Given the description of an element on the screen output the (x, y) to click on. 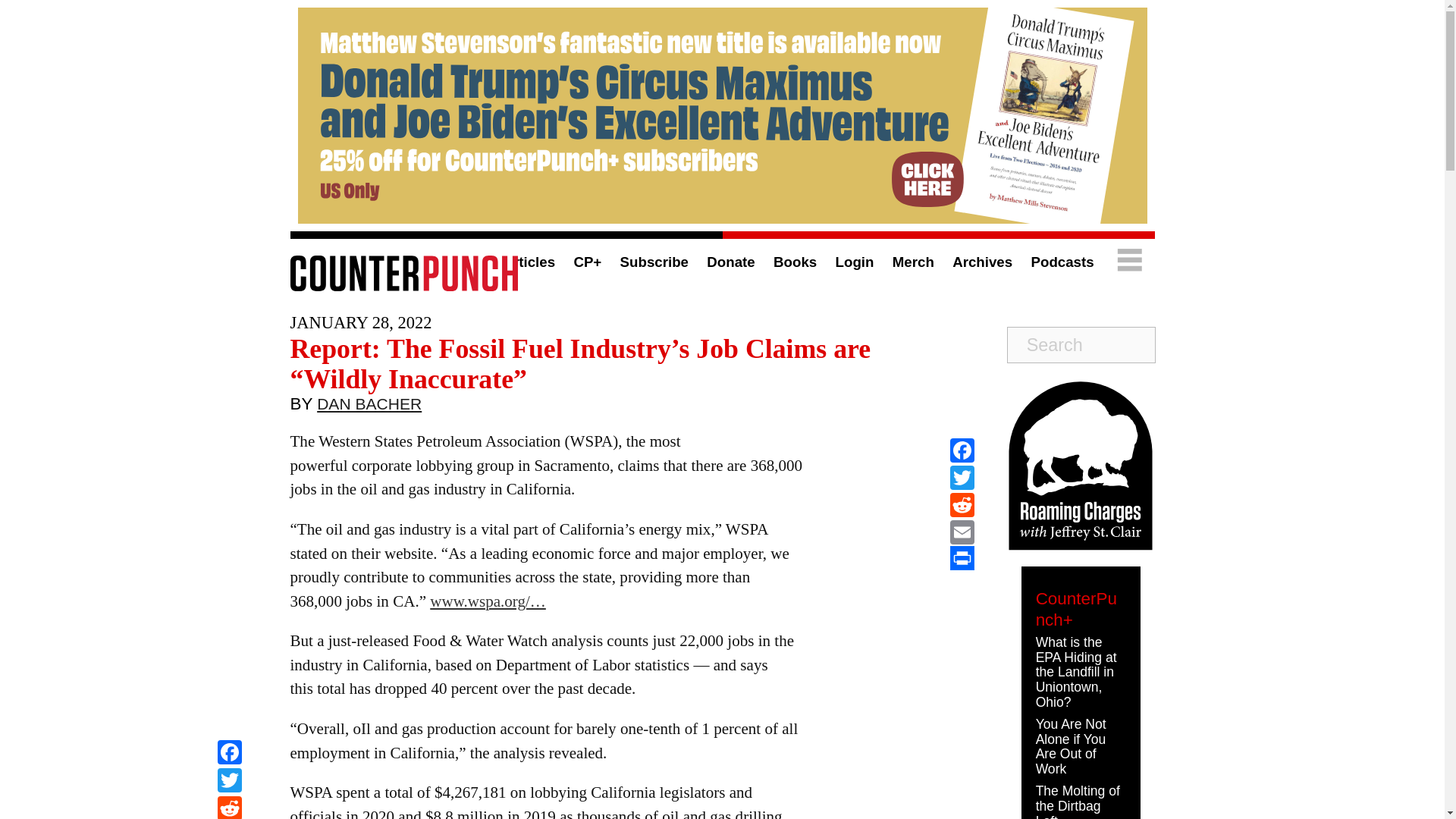
Podcasts (1061, 261)
Facebook (229, 754)
Books (794, 261)
Articles (528, 261)
Merch (913, 261)
Facebook (229, 754)
Twitter (962, 477)
Twitter (229, 782)
Archives (981, 261)
Subscribe (654, 261)
Reddit (229, 807)
Reddit (962, 504)
DAN BACHER (369, 407)
Email (962, 532)
Login (855, 261)
